Given the description of an element on the screen output the (x, y) to click on. 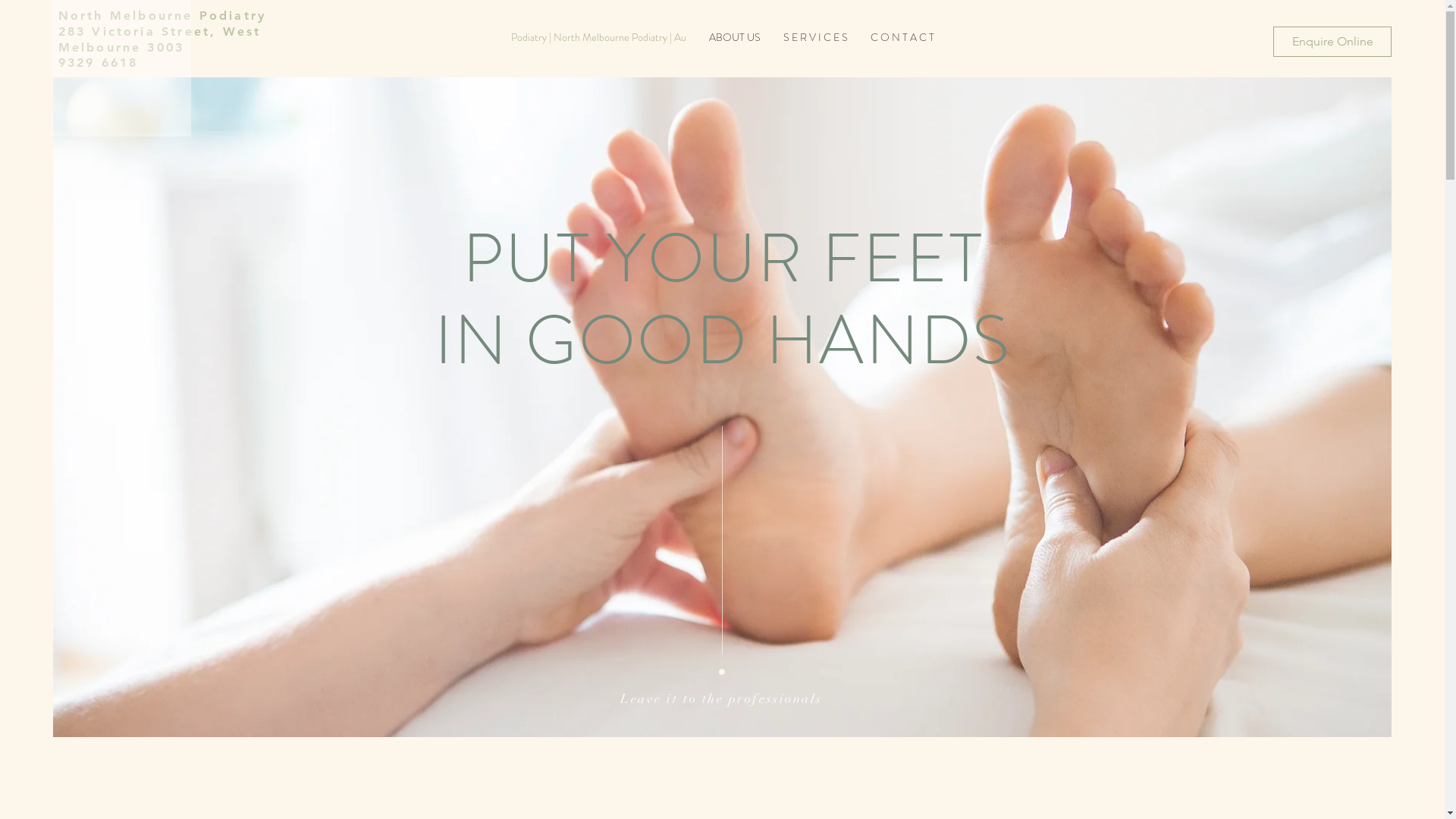
S E R V I C E S Element type: text (815, 37)
Enquire Online Element type: text (1332, 41)
C O N T A C T Element type: text (901, 37)
North Melbourne Podiatry Element type: text (161, 15)
Podiatry | North Melbourne Podiatry | Au Element type: text (597, 37)
ABOUT US Element type: text (734, 37)
